Given the description of an element on the screen output the (x, y) to click on. 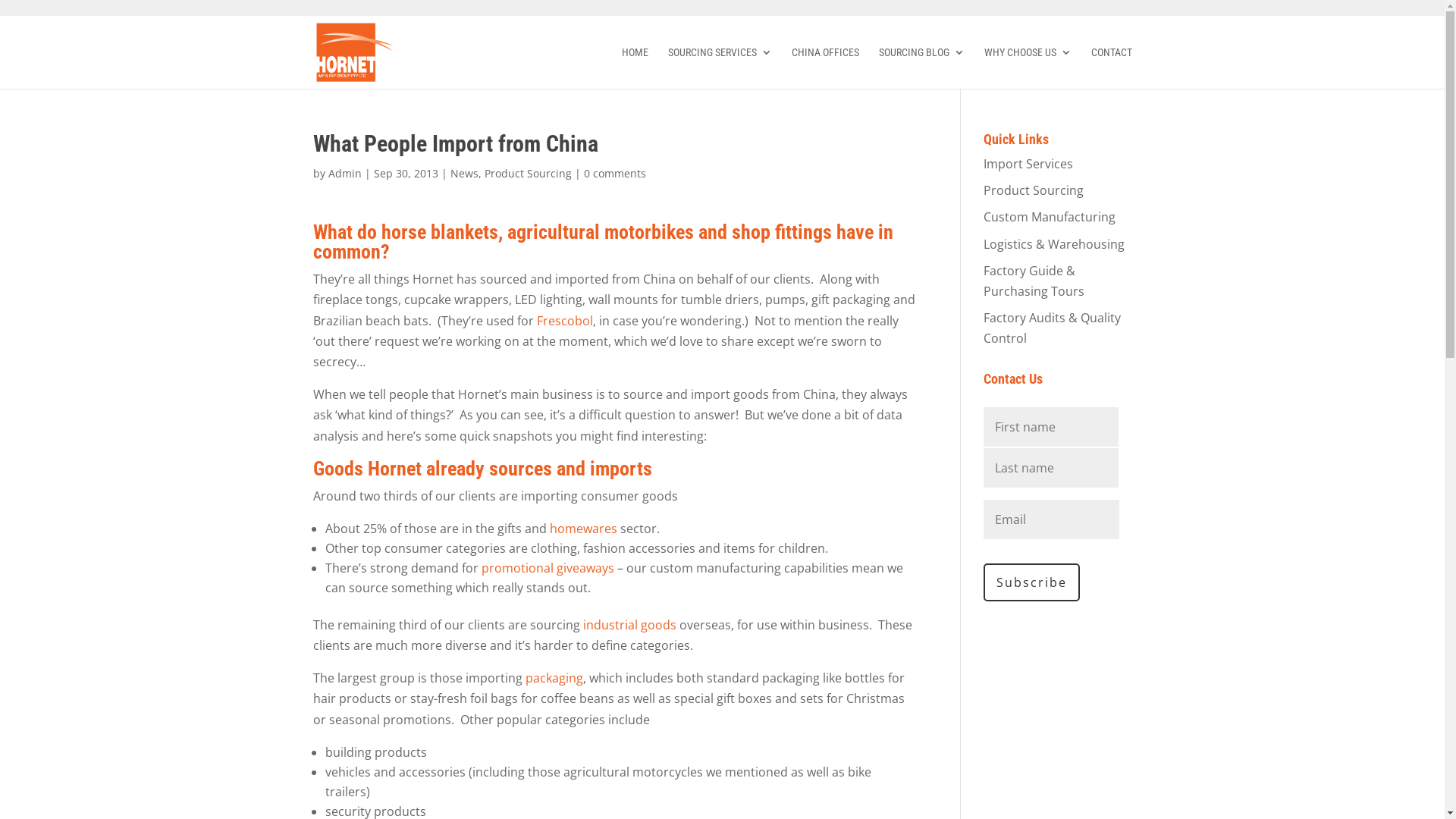
WHY CHOOSE US Element type: text (1027, 67)
SOURCING BLOG Element type: text (920, 67)
CONTACT Element type: text (1110, 67)
Factory Guide & Purchasing Tours Element type: text (1033, 280)
packaging Element type: text (553, 677)
Custom Manufacturing Element type: text (1049, 216)
Frescobol Element type: text (564, 320)
News Element type: text (464, 173)
CHINA OFFICES Element type: text (825, 67)
Import Services Element type: text (1028, 163)
homewares Element type: text (584, 528)
industrial goods Element type: text (628, 624)
Admin Element type: text (343, 173)
SOURCING SERVICES Element type: text (719, 67)
Subscribe Element type: text (1031, 581)
Product Sourcing Element type: text (1033, 190)
HOME Element type: text (634, 67)
Logistics & Warehousing Element type: text (1053, 243)
Product Sourcing Element type: text (527, 173)
promotional giveaways Element type: text (548, 567)
Factory Audits & Quality Control Element type: text (1051, 327)
0 comments Element type: text (614, 173)
